Given the description of an element on the screen output the (x, y) to click on. 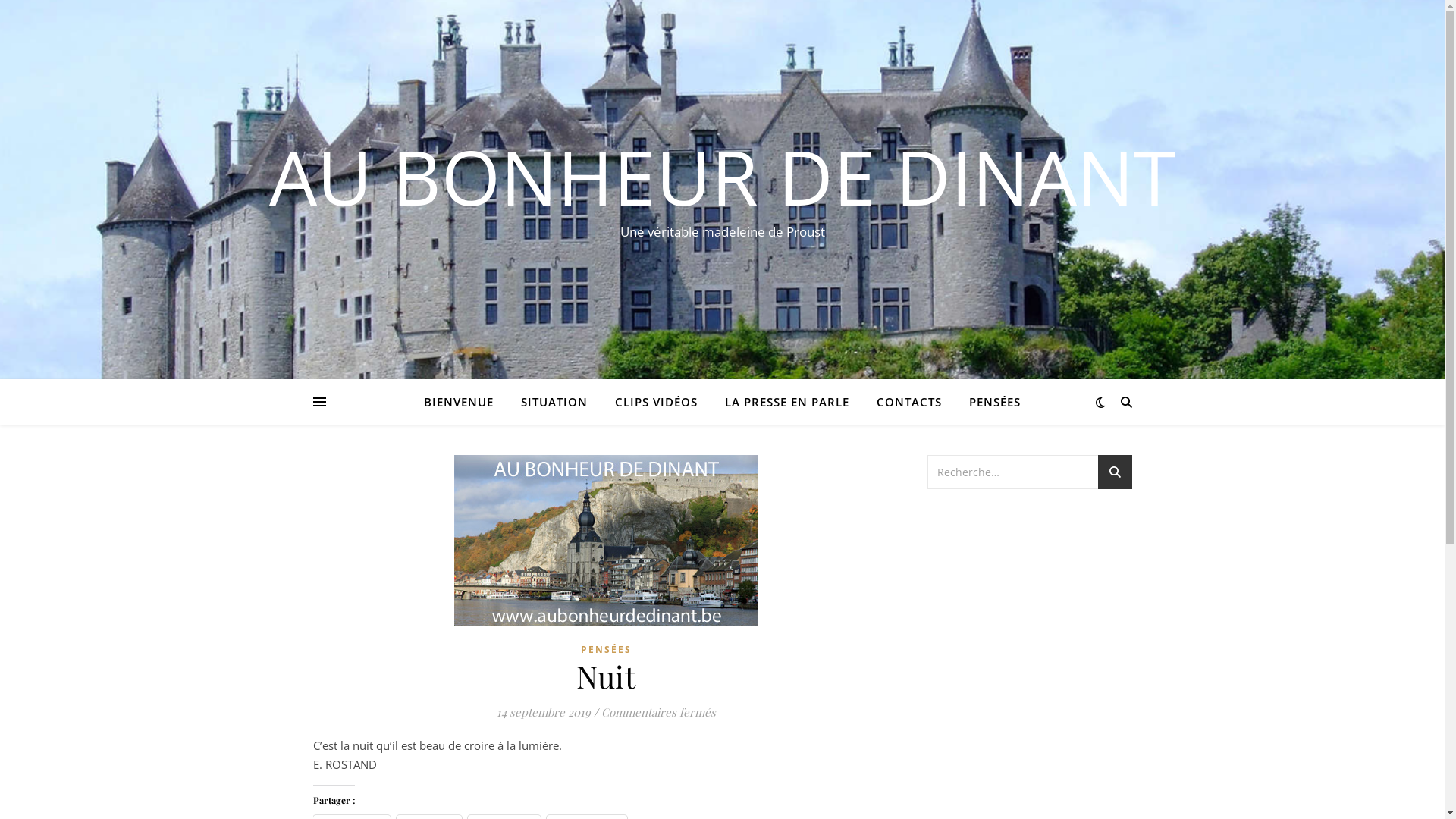
SITUATION Element type: text (553, 401)
BIENVENUE Element type: text (464, 401)
CONTACTS Element type: text (908, 401)
LA PRESSE EN PARLE Element type: text (786, 401)
AU BONHEUR DE DINANT Element type: text (722, 175)
st Element type: text (1114, 474)
